Given the description of an element on the screen output the (x, y) to click on. 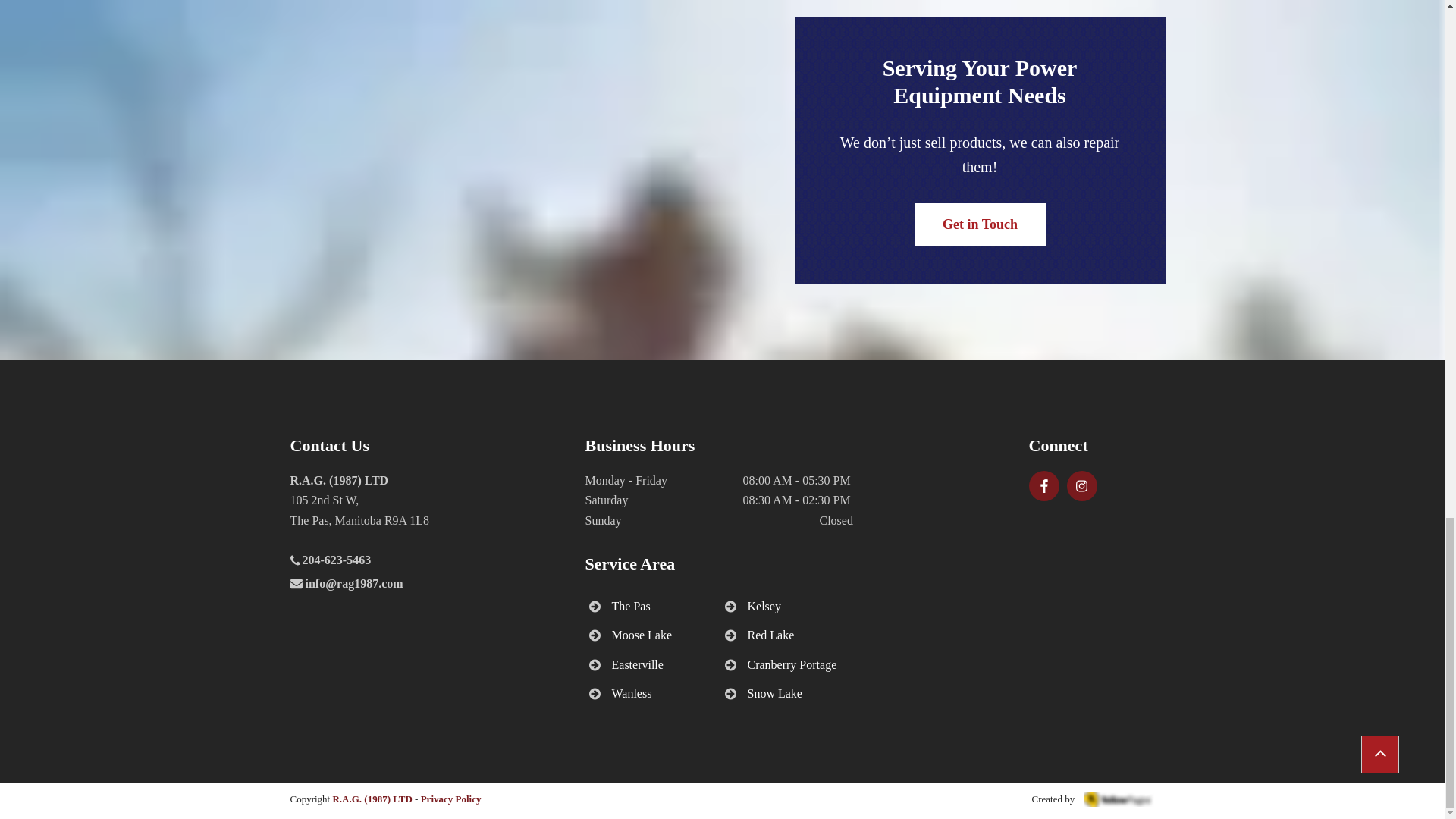
Get in Touch (979, 224)
 204-623-5463 (334, 561)
Privacy Policy (450, 799)
